Given the description of an element on the screen output the (x, y) to click on. 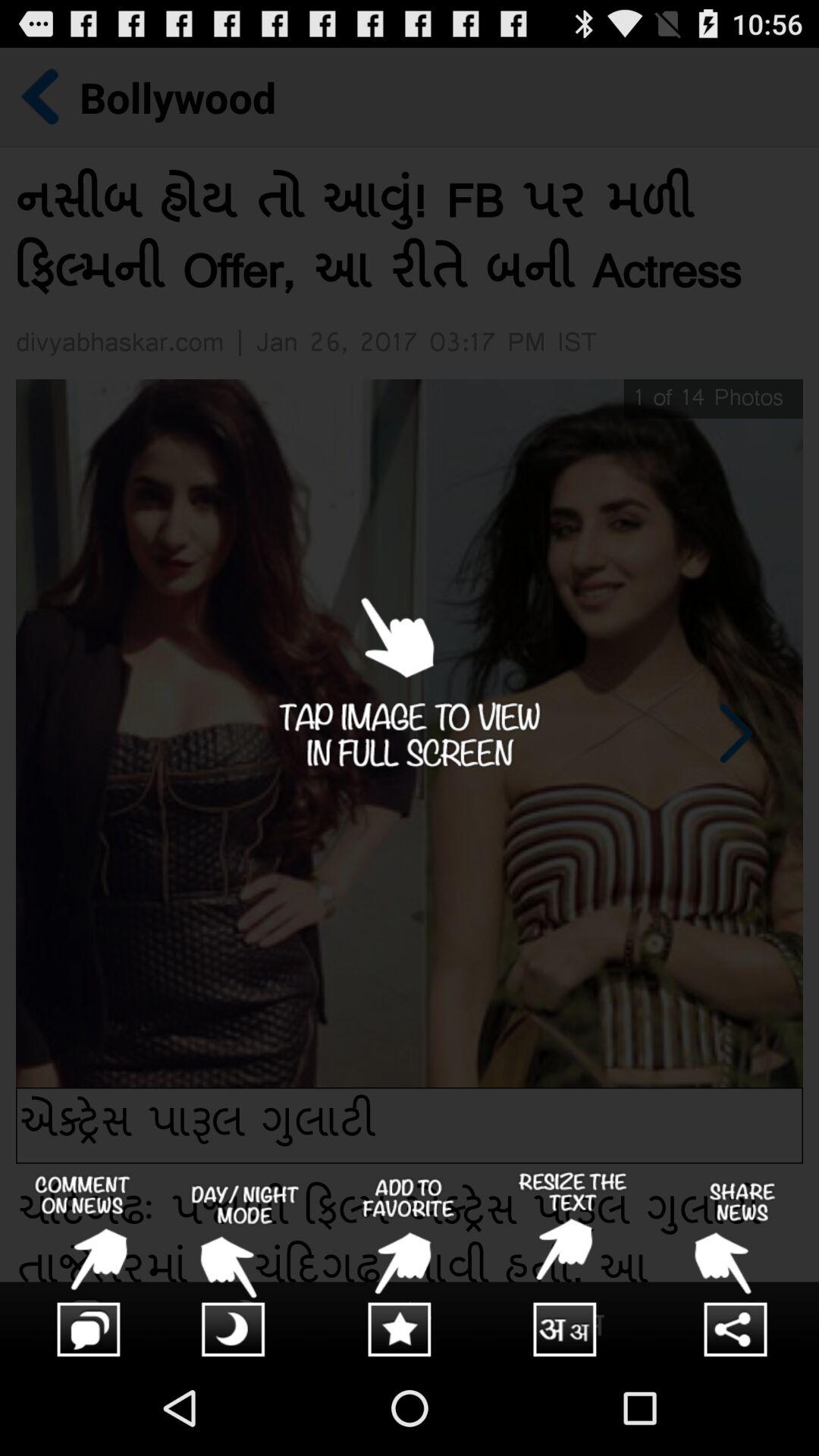
share news (737, 1265)
